Given the description of an element on the screen output the (x, y) to click on. 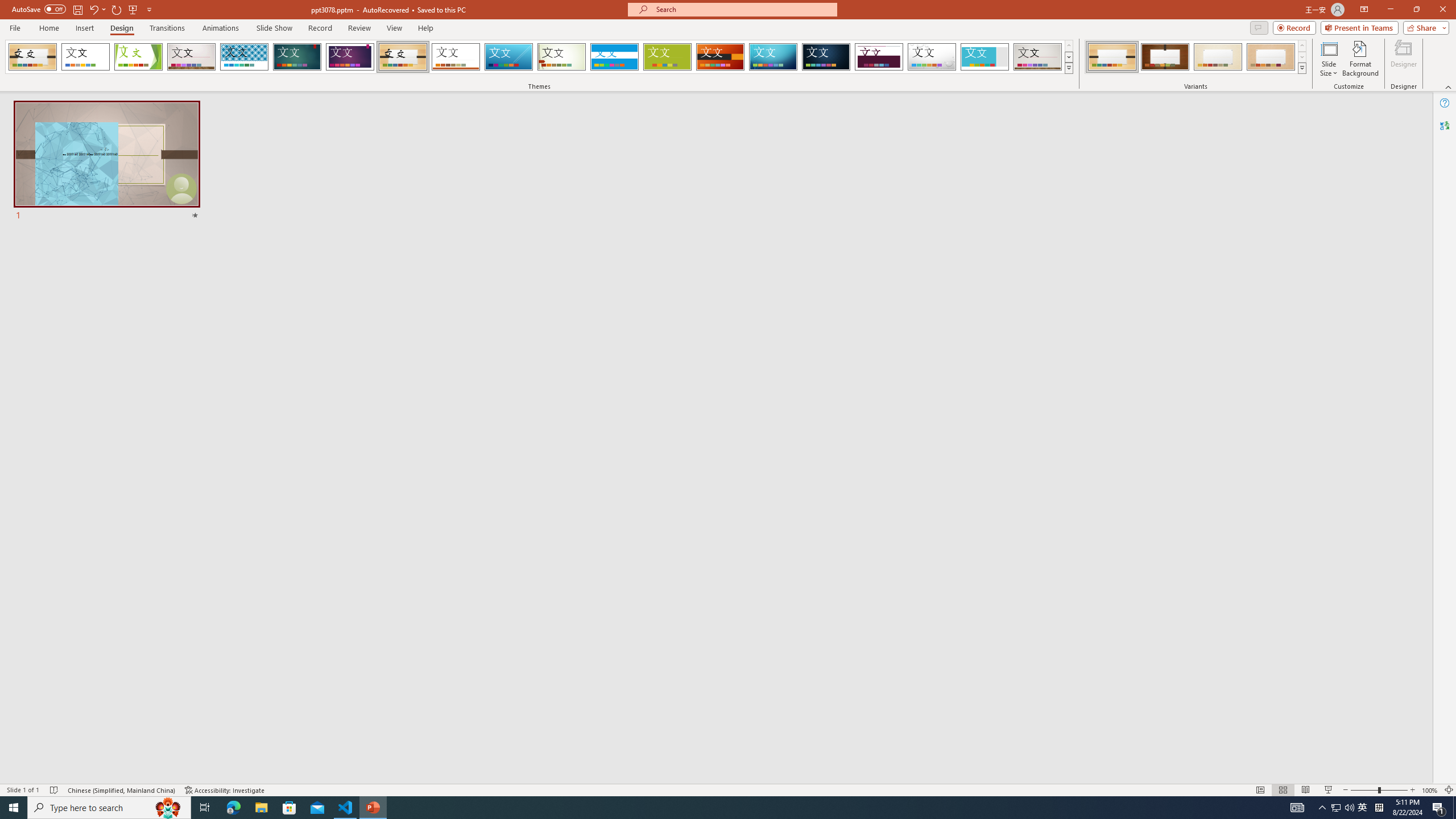
AutomationID: SlideThemesGallery (539, 56)
Ion Boardroom (350, 56)
